Given the description of an element on the screen output the (x, y) to click on. 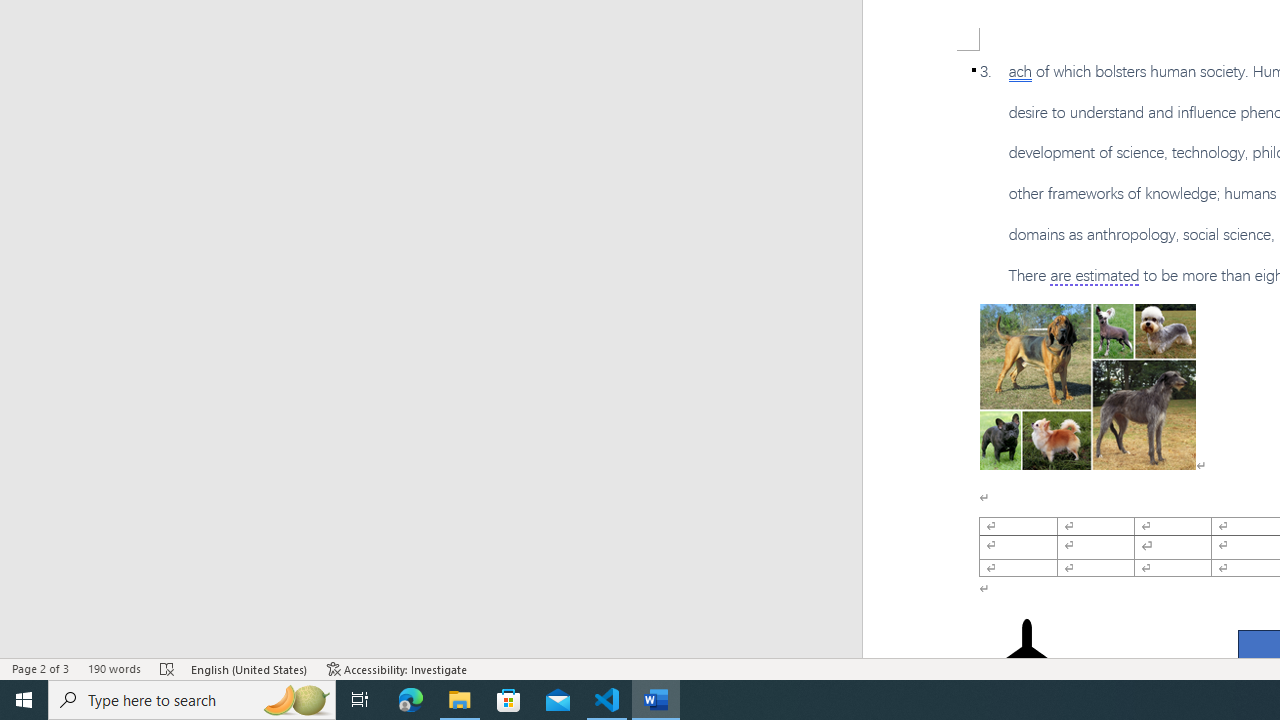
Page Number Page 2 of 3 (39, 668)
Spelling and Grammar Check Errors (168, 668)
Airplane with solid fill (1026, 657)
Language English (United States) (250, 668)
Accessibility Checker Accessibility: Investigate (397, 668)
Morphological variation in six dogs (1087, 386)
